Given the description of an element on the screen output the (x, y) to click on. 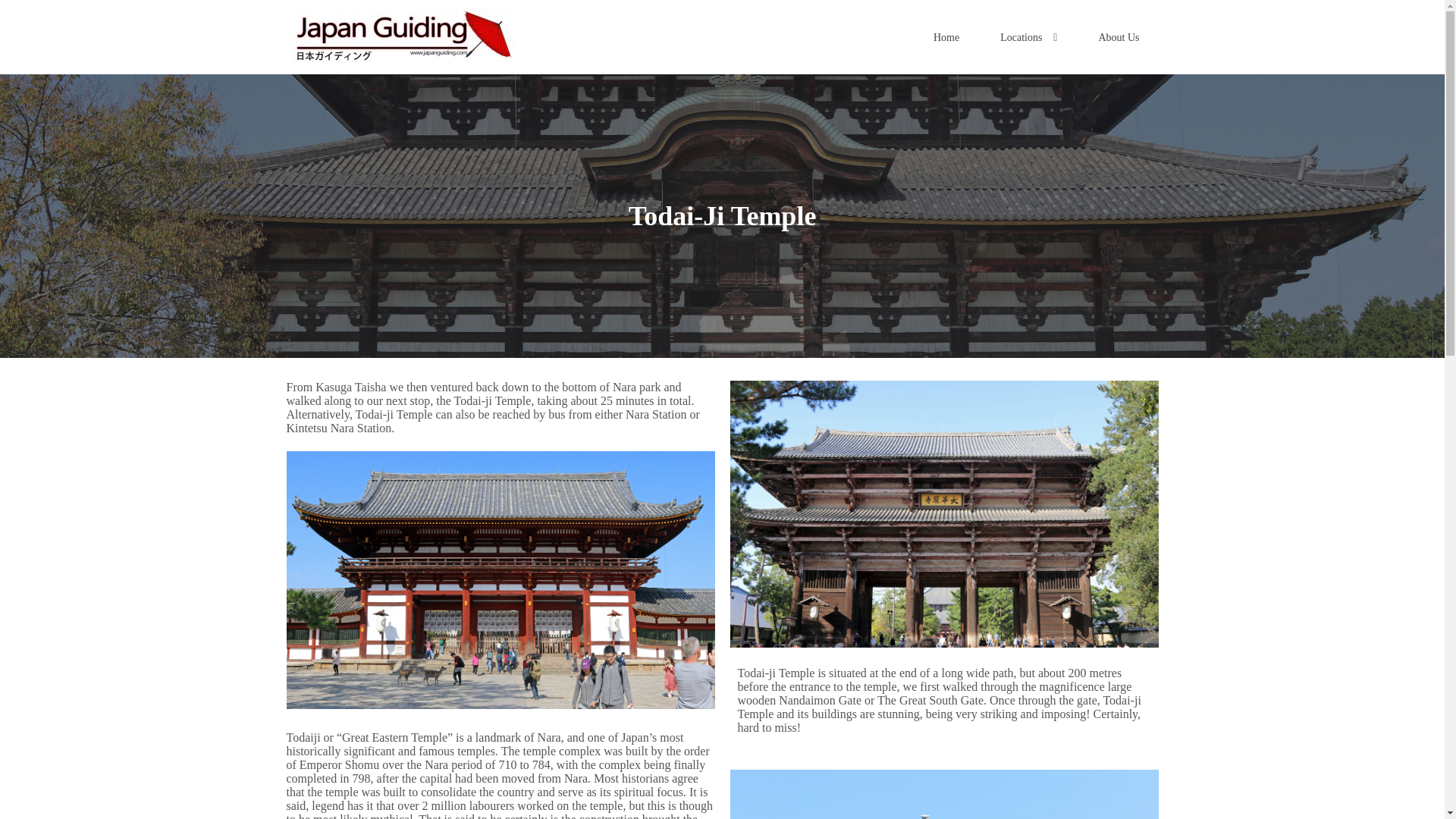
Nandaimon Gate (943, 513)
Home (946, 36)
Japan Guiding Logo (399, 36)
Locations (1028, 36)
